Given the description of an element on the screen output the (x, y) to click on. 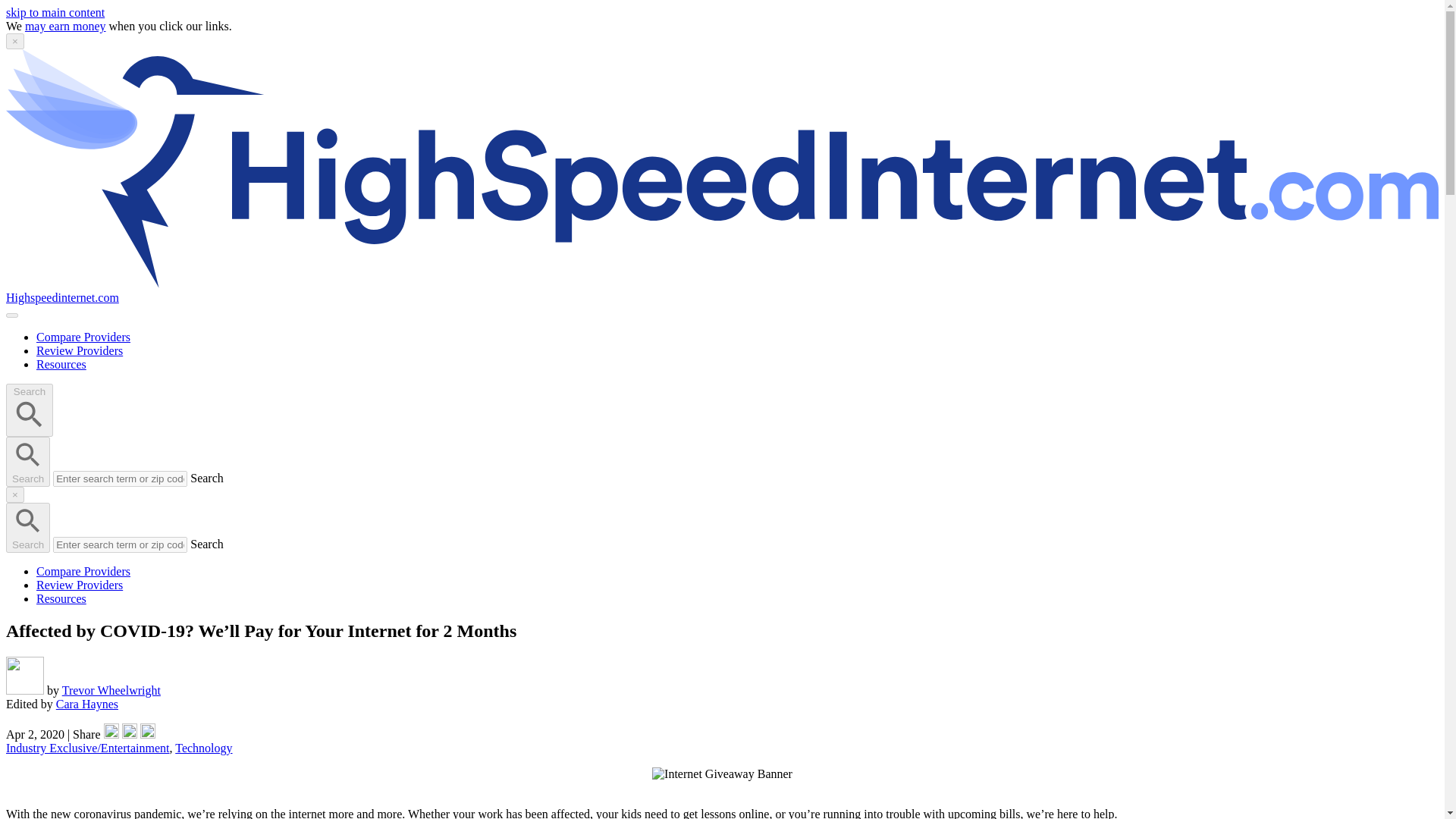
Toggle Menu (11, 314)
Review Providers (79, 584)
may earn money (65, 25)
skip to main content (54, 11)
Review Providers (79, 350)
Cara Haynes (86, 703)
Close (14, 41)
Resources (60, 598)
Resources (60, 364)
Trevor Wheelwright (111, 689)
